Given the description of an element on the screen output the (x, y) to click on. 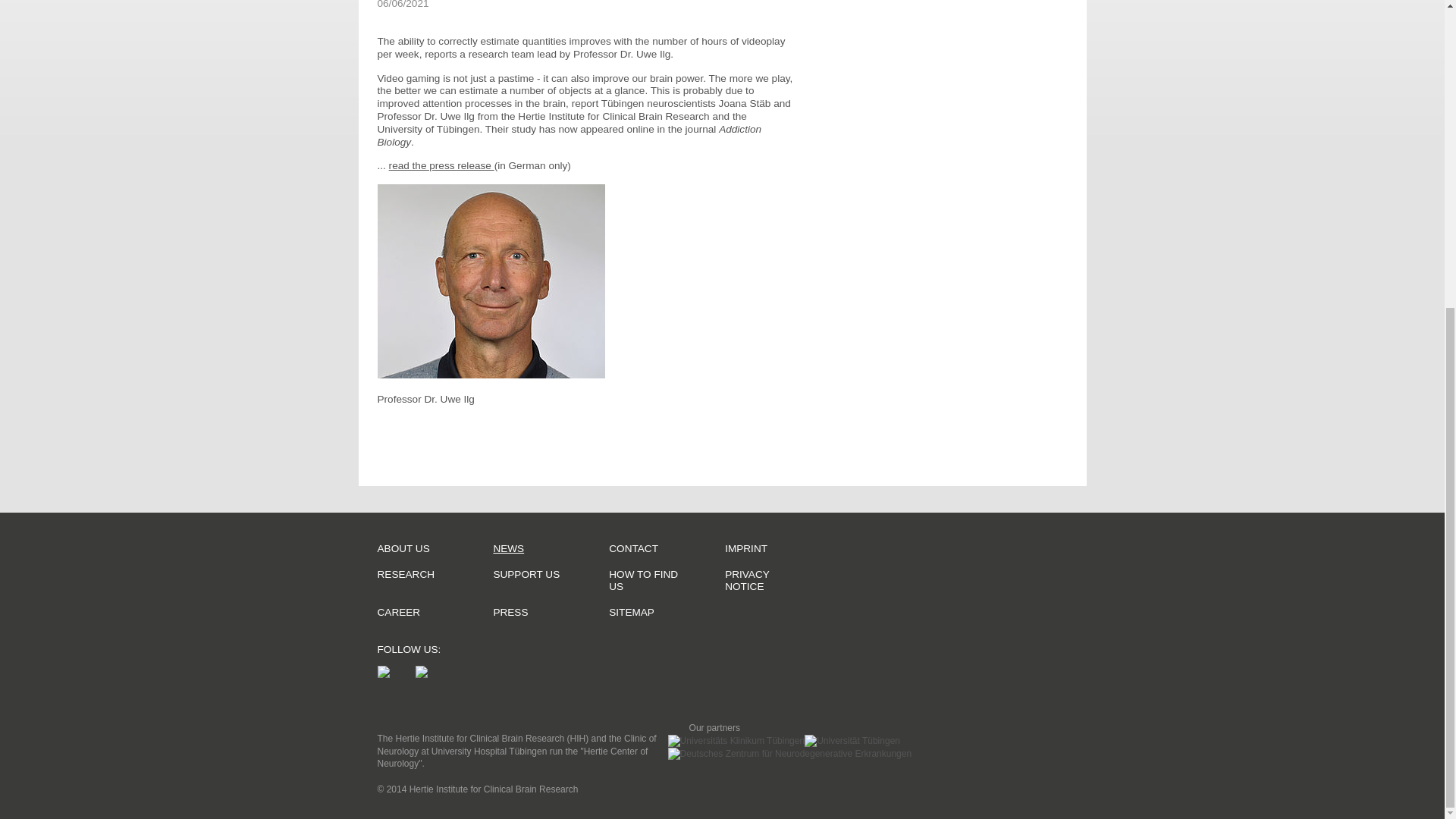
Opens external link in new window (441, 165)
